Given the description of an element on the screen output the (x, y) to click on. 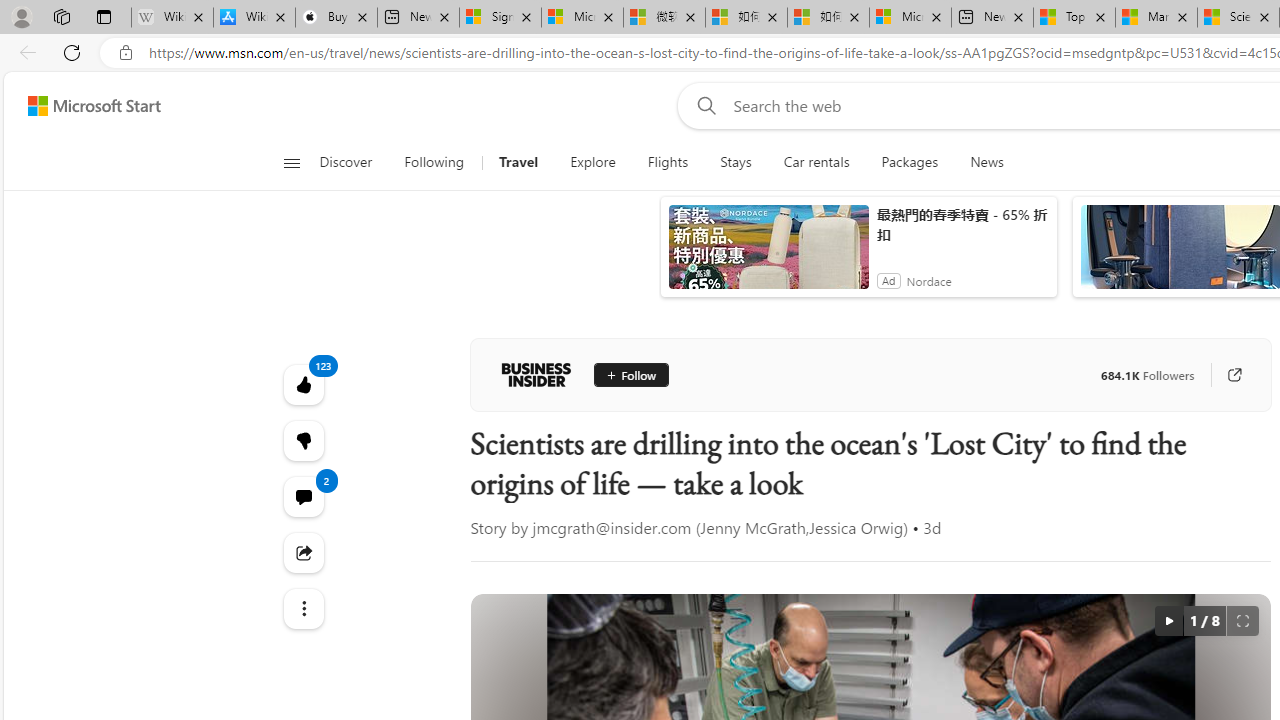
Business Insider (536, 374)
Stays (736, 162)
Flights (667, 162)
Share this story (302, 552)
123 Like (302, 384)
autorotate button (1168, 620)
